Given the description of an element on the screen output the (x, y) to click on. 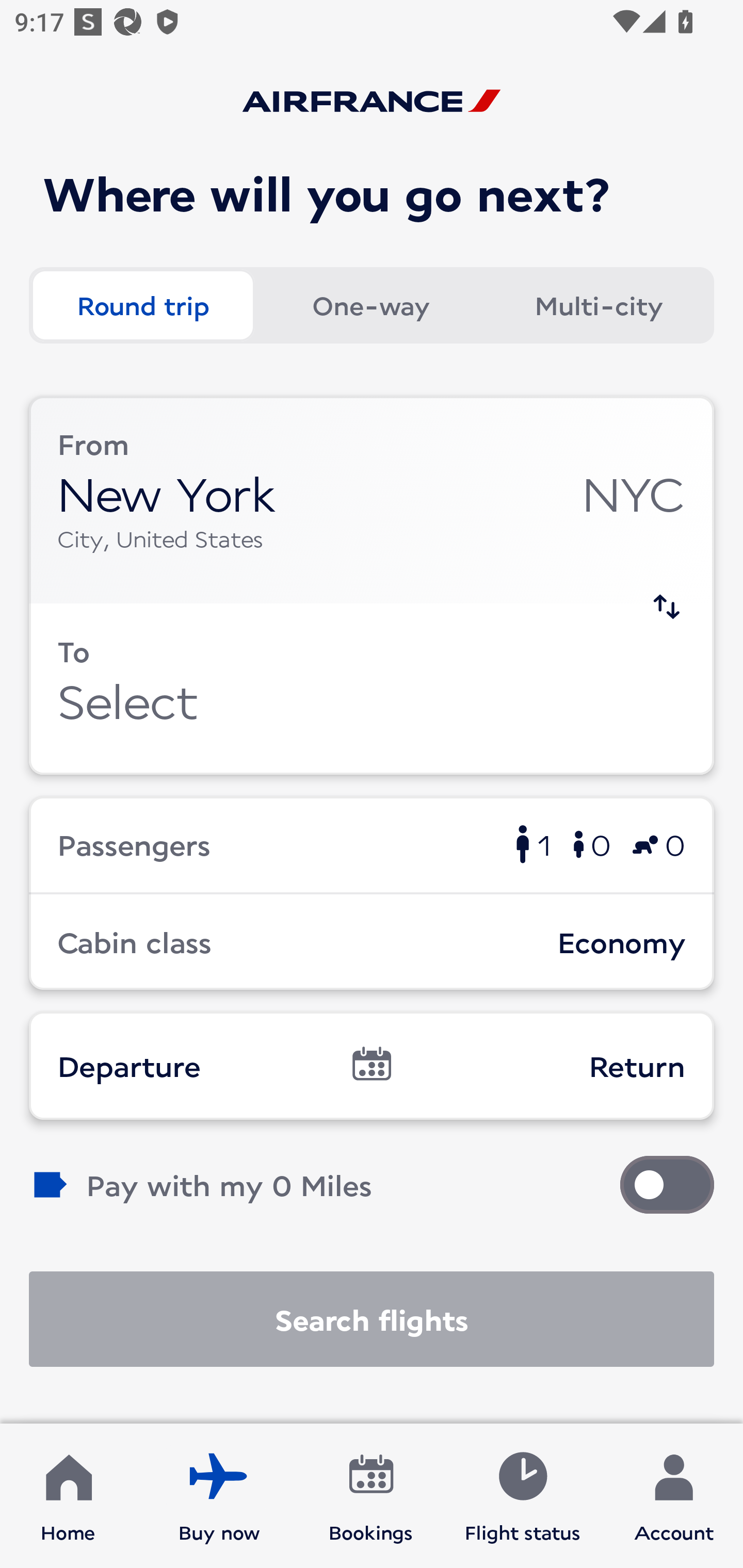
Round trip (142, 304)
One-way (370, 304)
Multi-city (598, 304)
From New York NYC City, United States (371, 499)
To Select (371, 688)
Passengers 1 0 0 (371, 844)
Cabin class Economy (371, 941)
Departure Return (371, 1065)
Search flights (371, 1319)
Home (68, 1495)
Bookings (370, 1495)
Flight status (522, 1495)
Account (674, 1495)
